Given the description of an element on the screen output the (x, y) to click on. 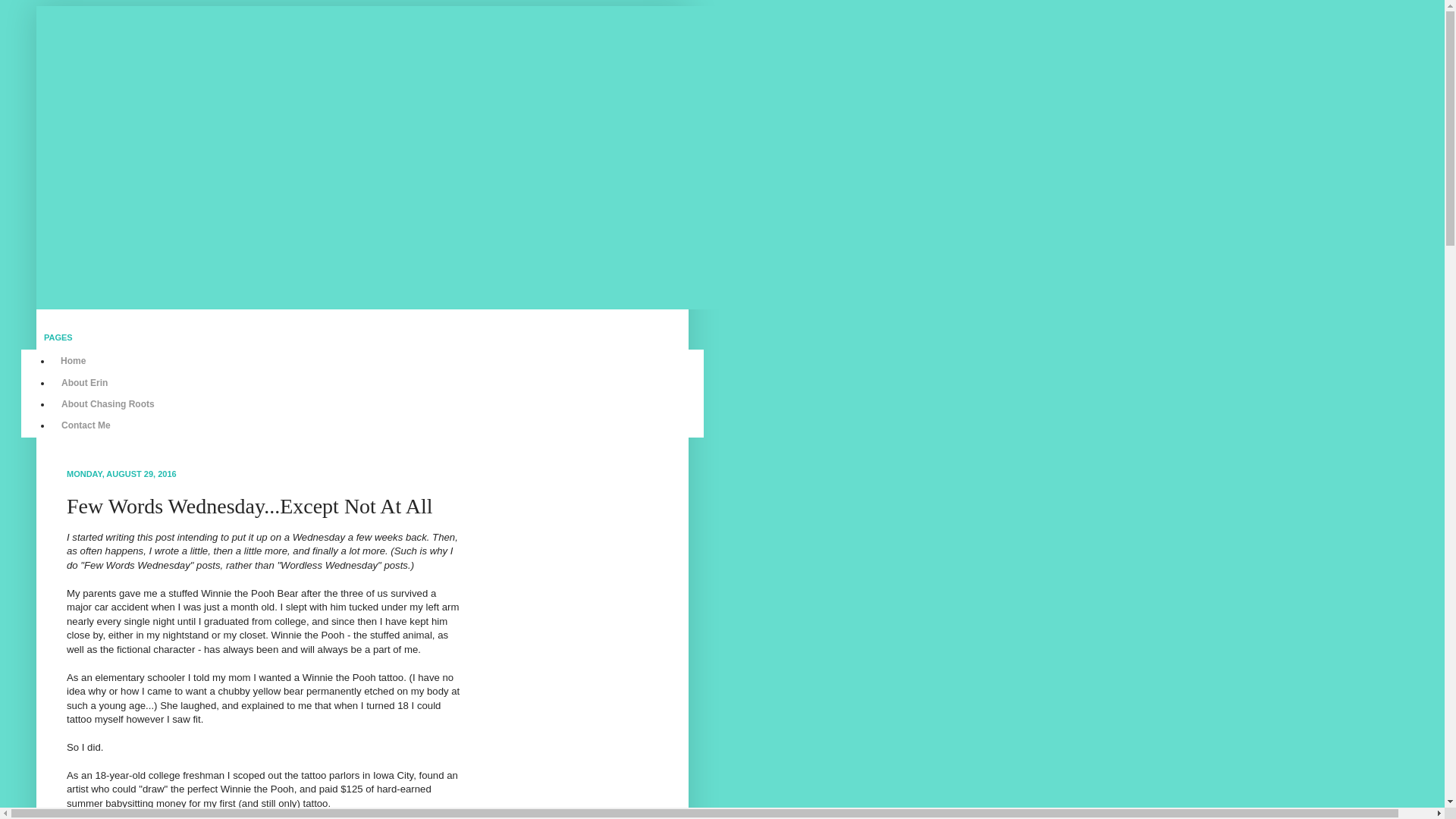
Contact Me (85, 424)
About Erin (83, 382)
Home (73, 360)
About Chasing Roots (107, 403)
